Given the description of an element on the screen output the (x, y) to click on. 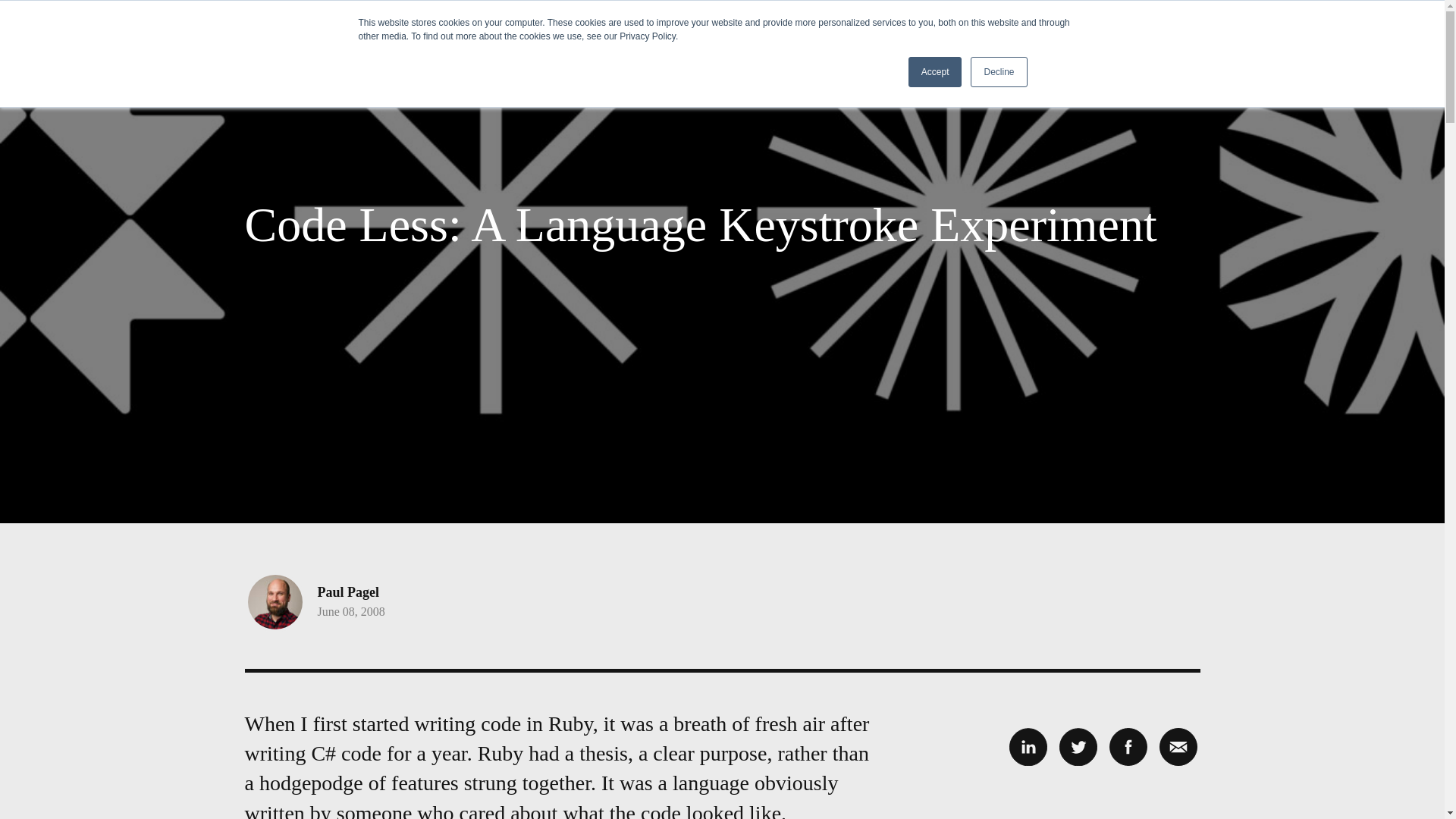
Share on LinkedIn (1027, 746)
Share on Facebook (1127, 746)
Share on Twitter (1077, 746)
Decline (998, 71)
Paul Pagel (347, 591)
Email this post (1177, 746)
INSIGHTS (1090, 47)
Accept (935, 71)
